Given the description of an element on the screen output the (x, y) to click on. 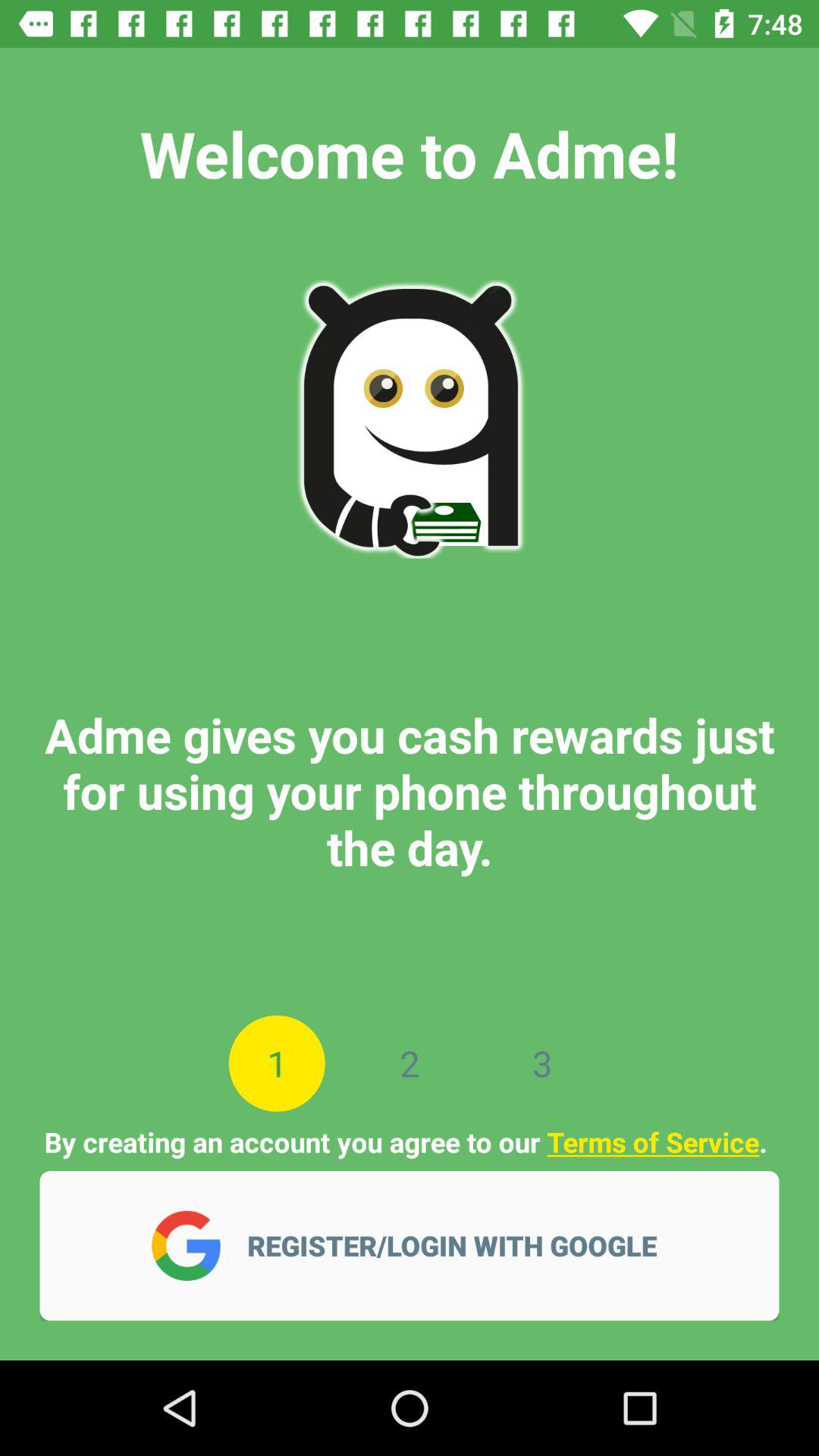
launch item above the by creating an (542, 1063)
